Given the description of an element on the screen output the (x, y) to click on. 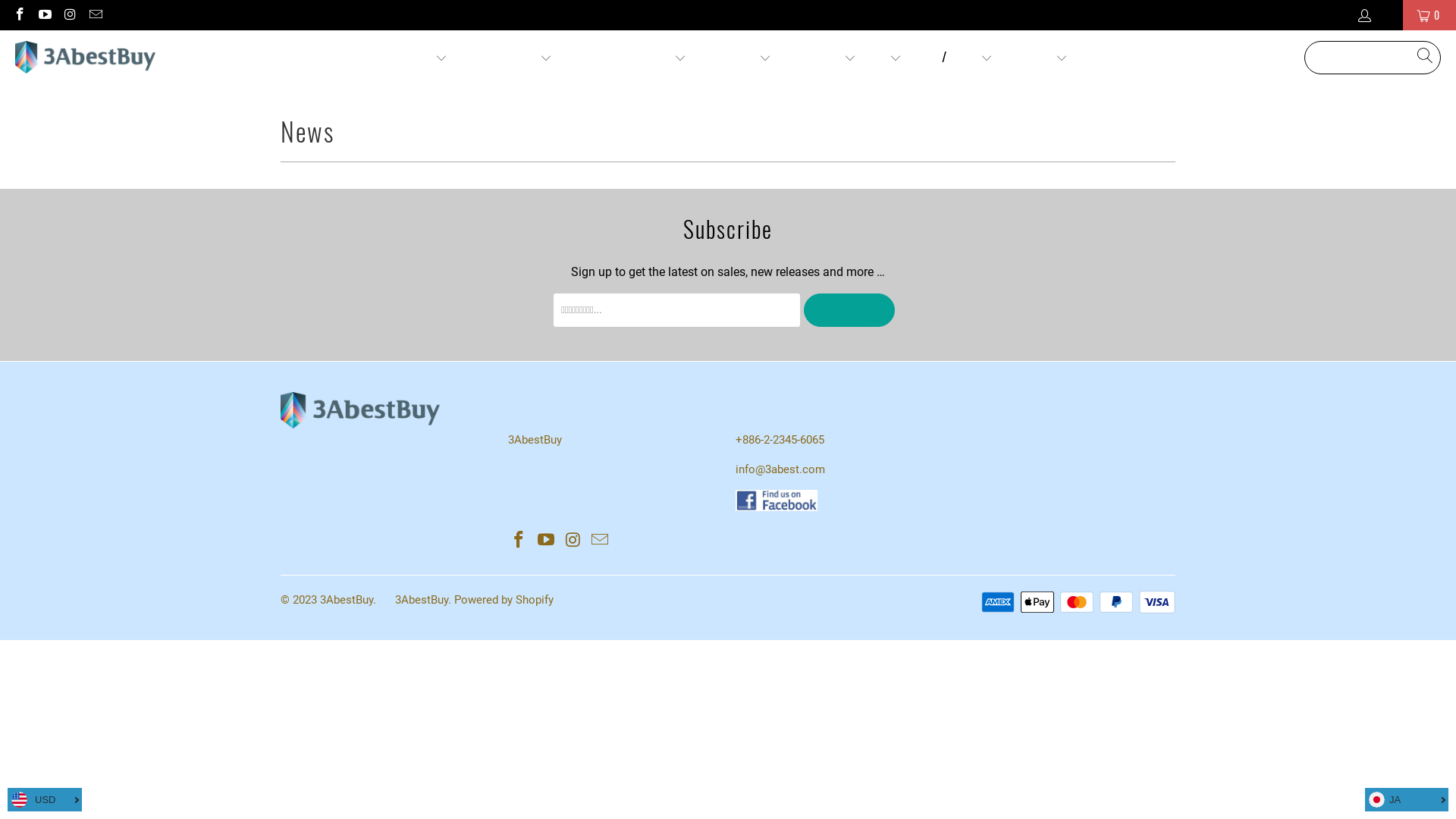
3AbestBuy Element type: text (534, 439)
3AbestBuy Element type: hover (85, 57)
Email 3AbestBuy Element type: hover (600, 540)
3AbestBuy on Facebook Element type: hover (519, 540)
3AbestBuy on YouTube Element type: hover (546, 540)
info@3abest.com Element type: text (780, 469)
3AbestBuy on Facebook Element type: hover (18, 14)
Email 3AbestBuy Element type: hover (95, 14)
3AbestBuy Element type: text (421, 599)
3AbestBuy on Instagram Element type: hover (572, 540)
3AbestBuy on YouTube Element type: hover (44, 14)
3AbestBuy on Instagram Element type: hover (69, 14)
3AbestBuy Element type: text (346, 599)
